Given the description of an element on the screen output the (x, y) to click on. 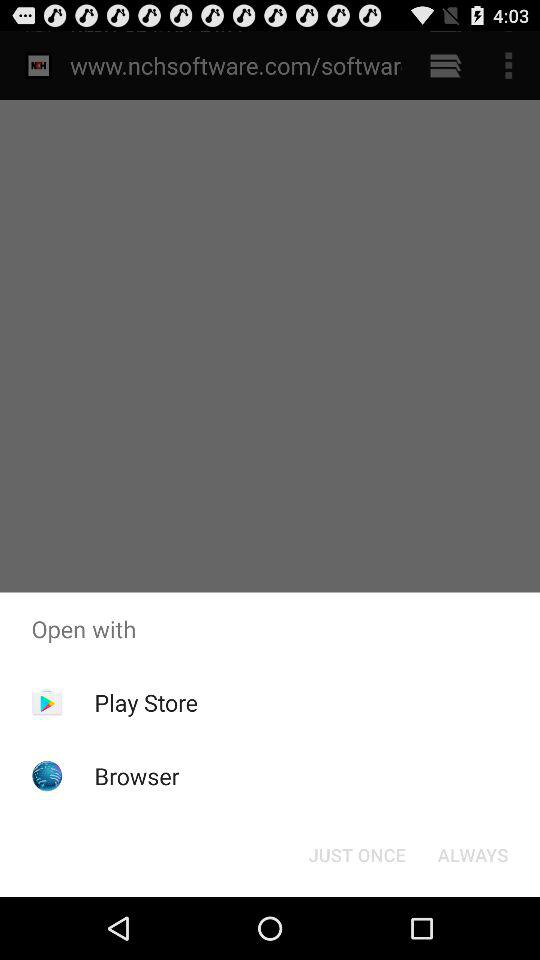
click the icon below the open with app (356, 854)
